Given the description of an element on the screen output the (x, y) to click on. 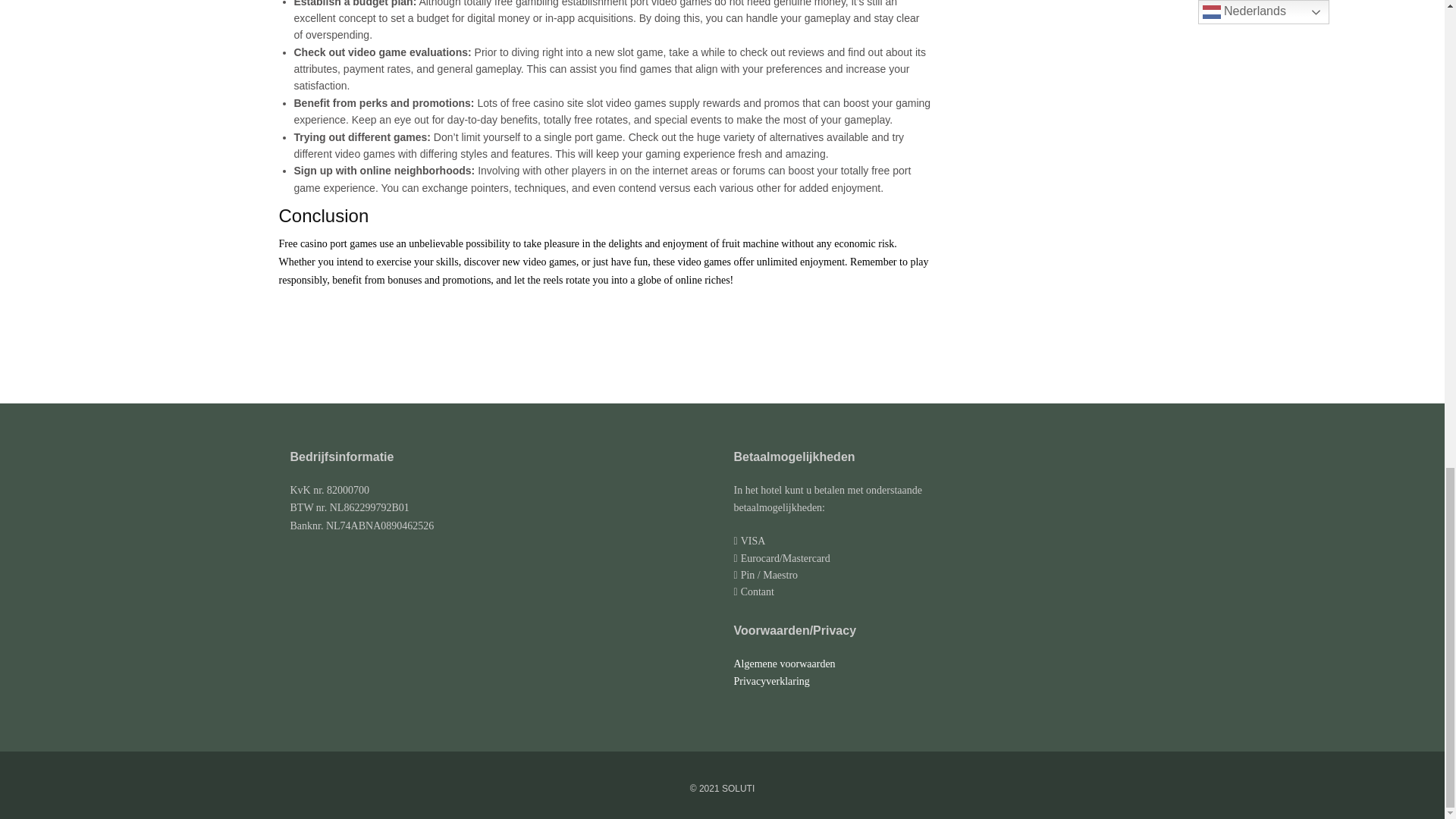
Algemene voorwaarden (784, 663)
Privacyverklaring (771, 681)
